Given the description of an element on the screen output the (x, y) to click on. 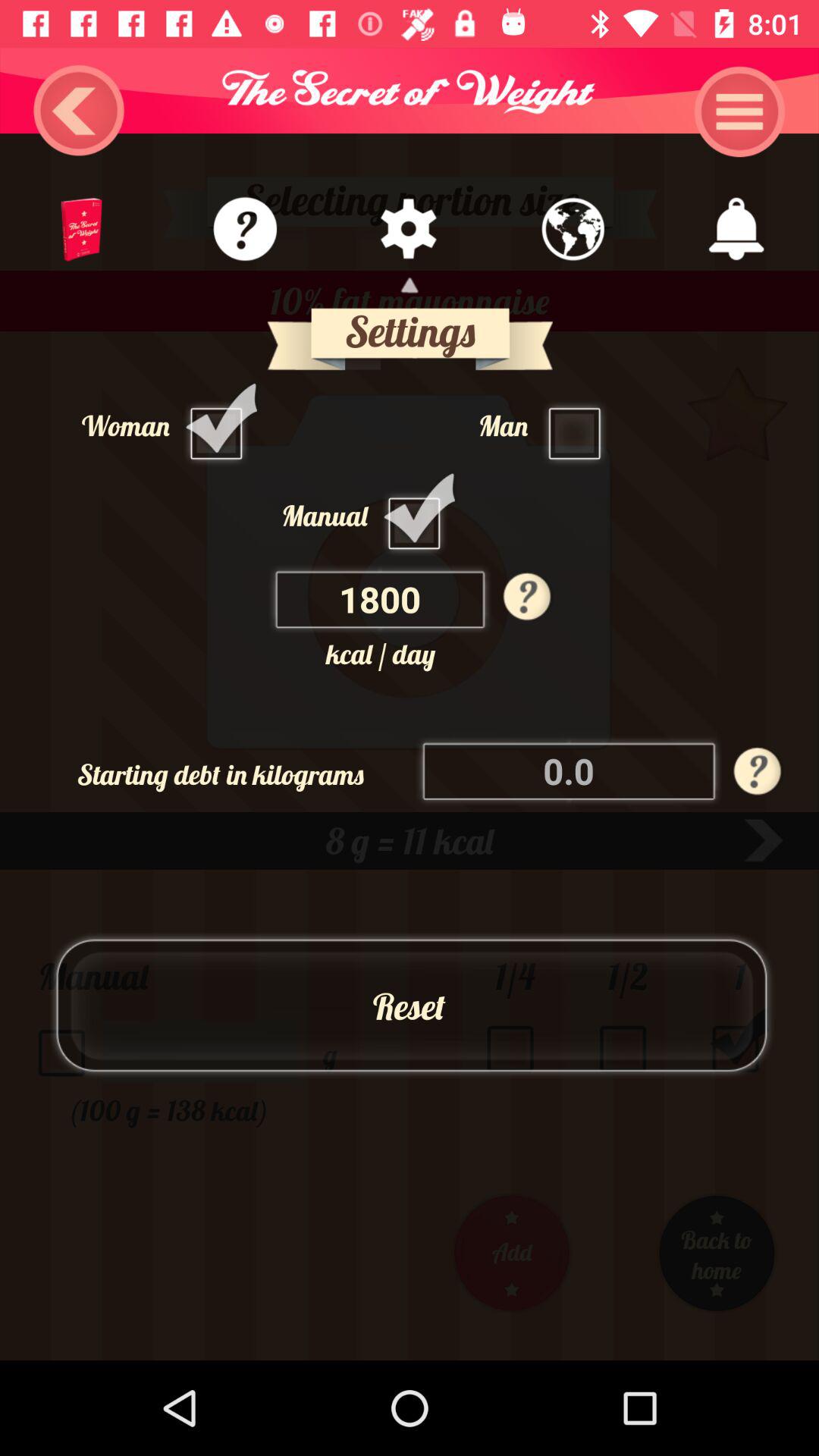
choose woman (220, 425)
